Given the description of an element on the screen output the (x, y) to click on. 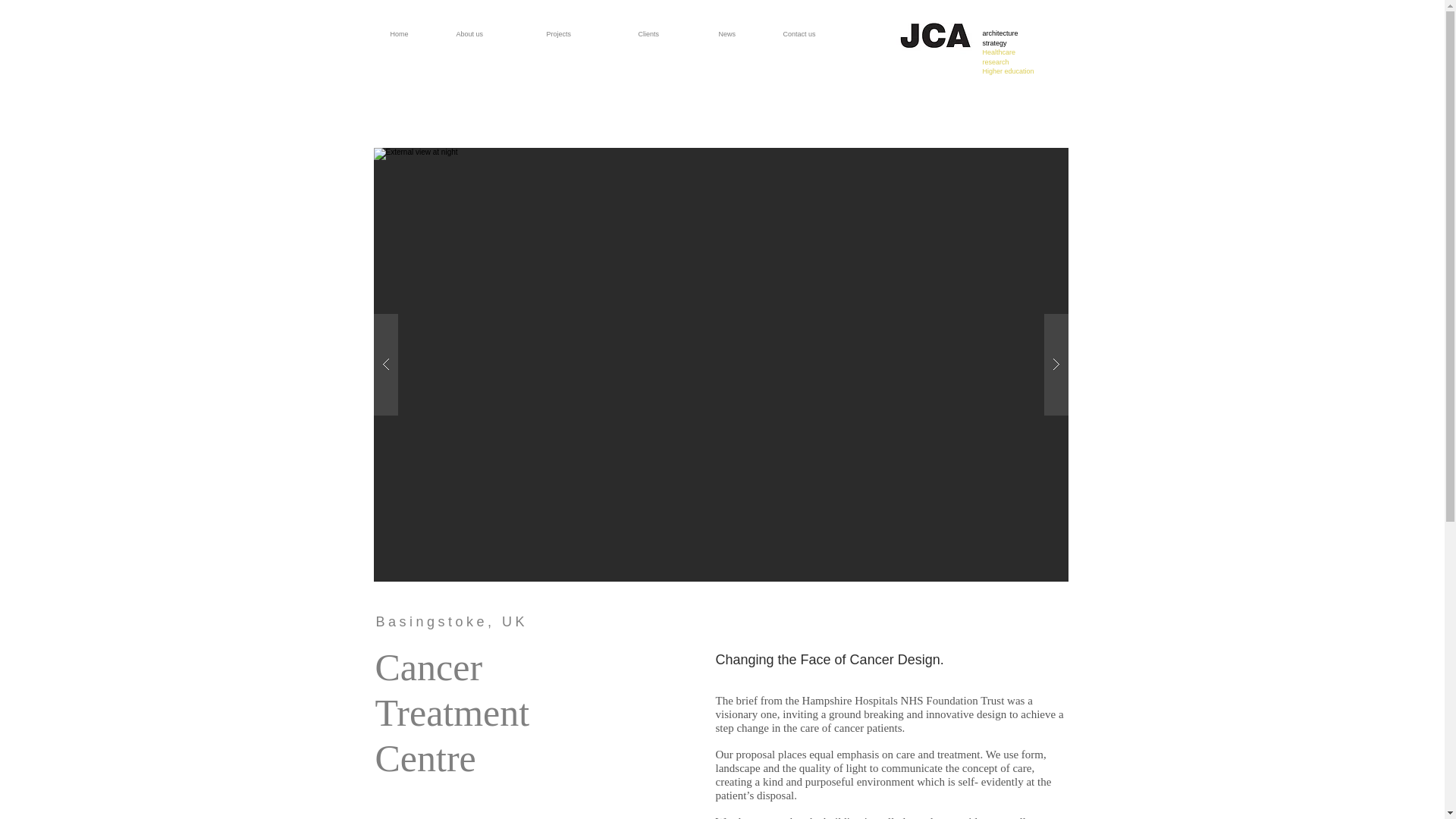
Clients (672, 27)
Projects (585, 27)
News (745, 27)
Home (1007, 52)
Contact us (416, 27)
About us (827, 27)
